Given the description of an element on the screen output the (x, y) to click on. 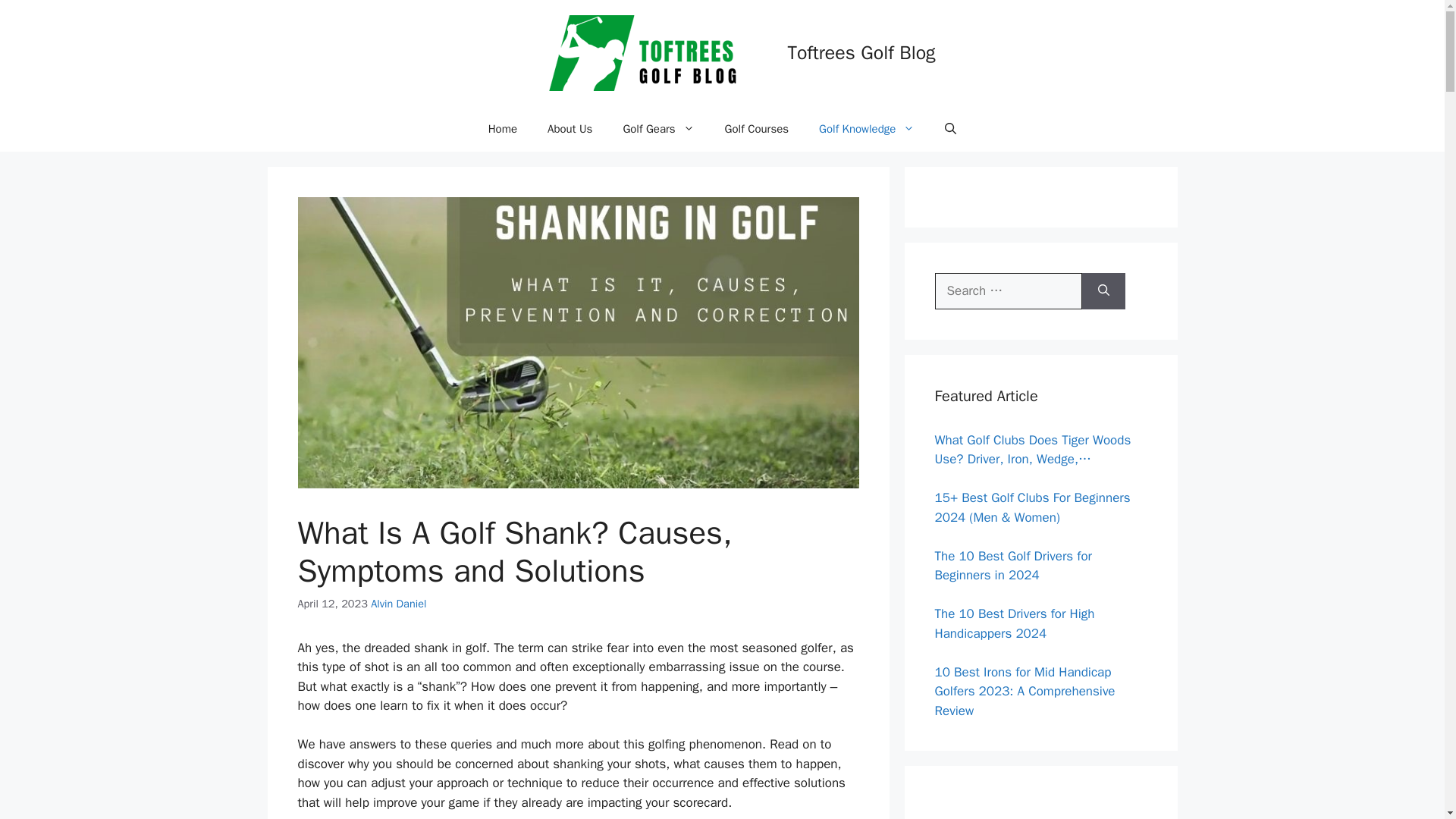
Toftrees Golf Blog (860, 52)
Golf Gears (658, 128)
Alvin Daniel (398, 603)
Home (502, 128)
Golf Knowledge (866, 128)
Golf Courses (756, 128)
About Us (569, 128)
Alvin Daniel (398, 603)
